Given the description of an element on the screen output the (x, y) to click on. 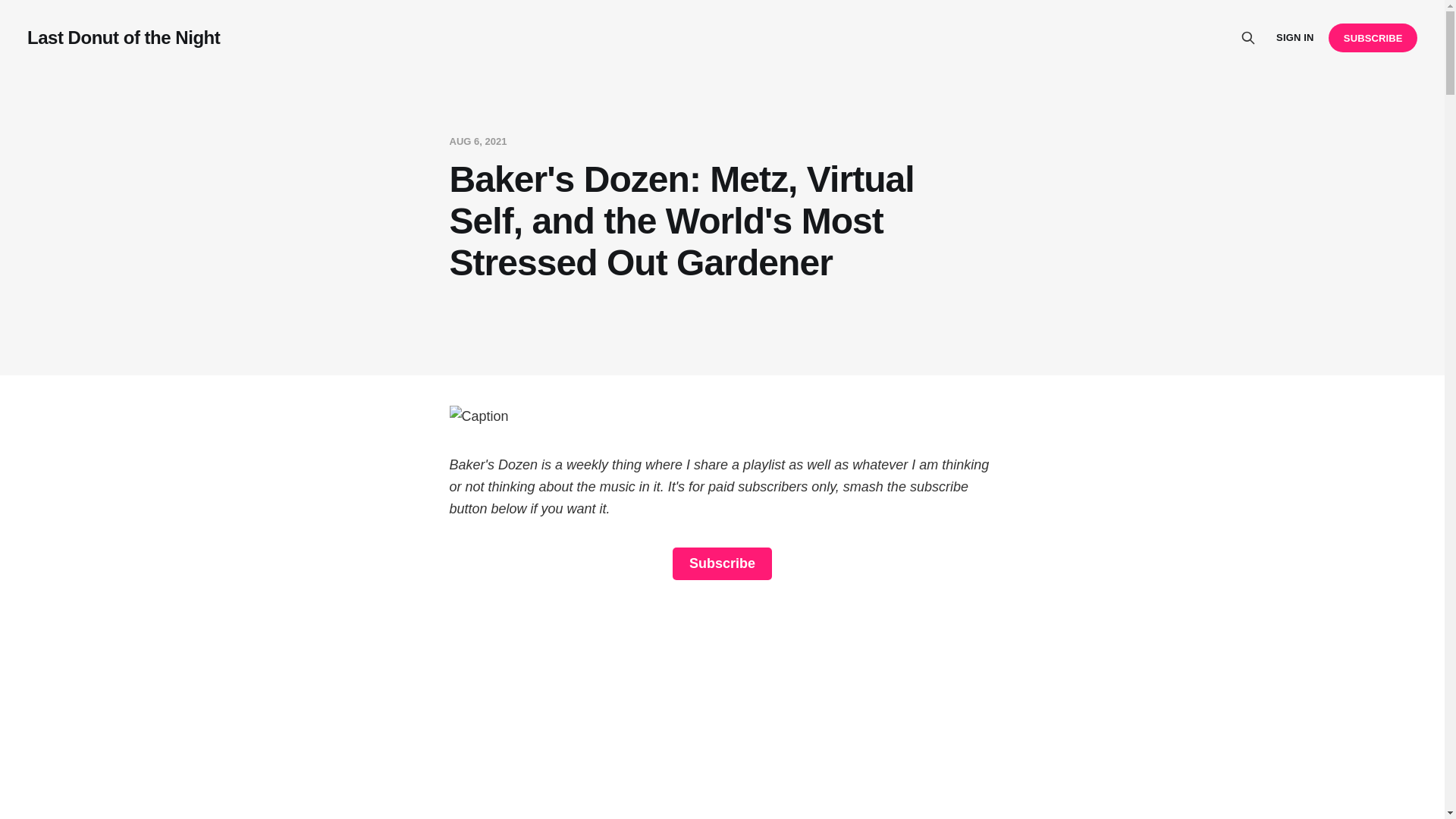
SUBSCRIBE (1371, 37)
Last Donut of the Night (123, 37)
Subscribe (721, 563)
SIGN IN (1294, 37)
spotify (721, 707)
